Given the description of an element on the screen output the (x, y) to click on. 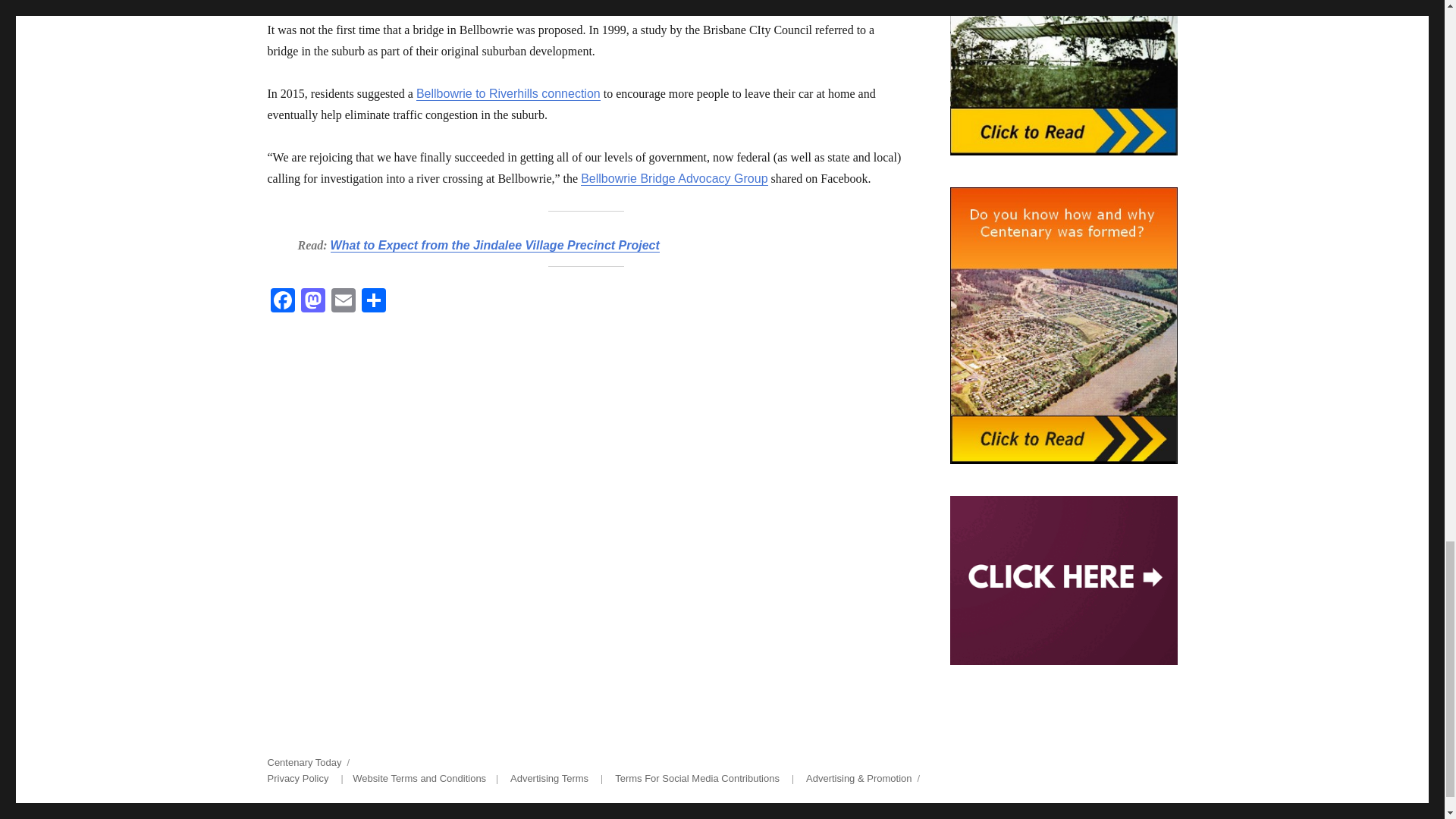
Facebook (281, 302)
Email (342, 302)
Mastodon (312, 302)
Bellbowrie to Riverhills connection (507, 92)
Bellbowrie Bridge Advocacy Group (673, 178)
Share (373, 302)
Mastodon (312, 302)
Email (342, 302)
What to Expect from the Jindalee Village Precinct Project (494, 245)
Facebook (281, 302)
